Given the description of an element on the screen output the (x, y) to click on. 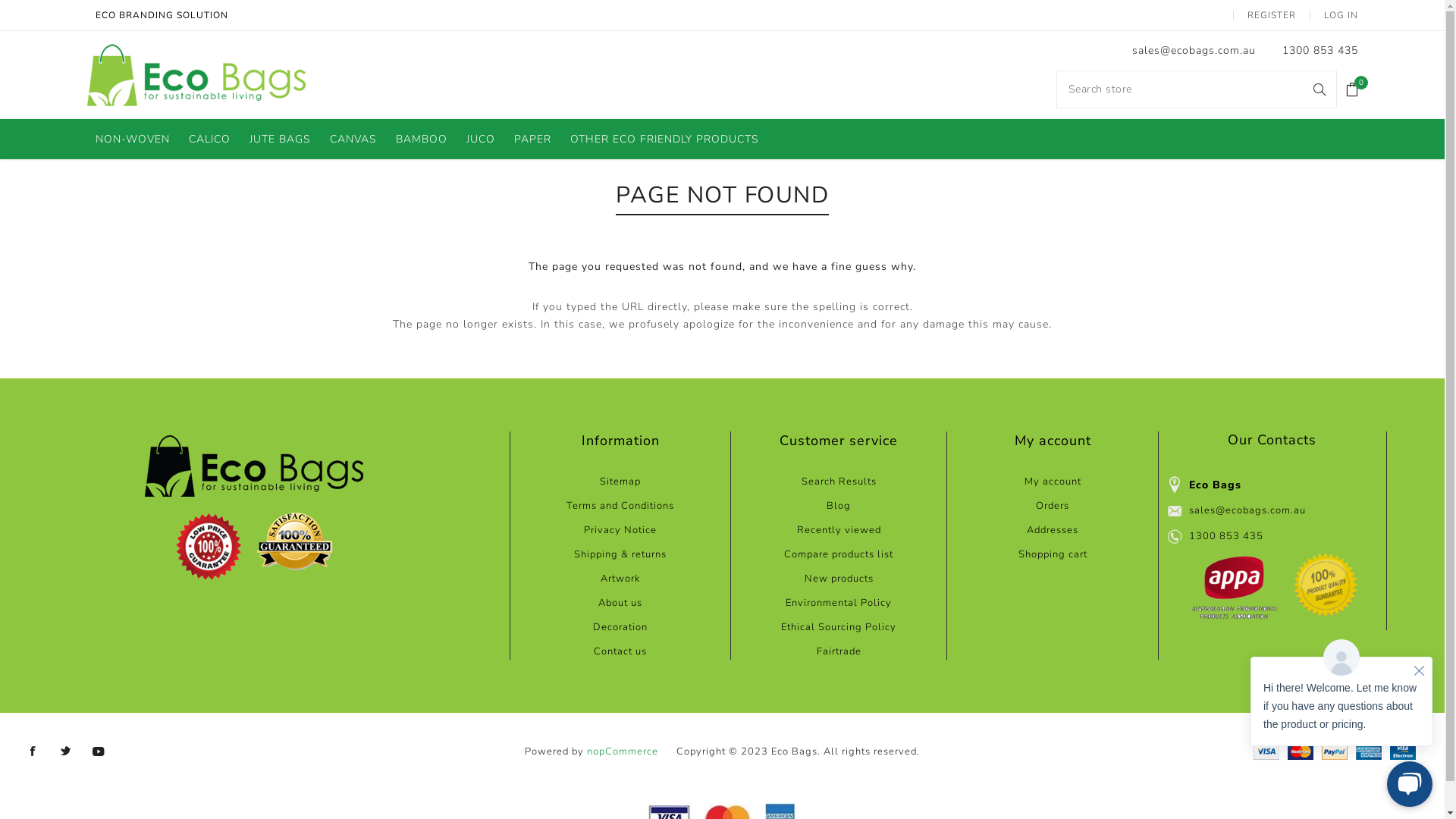
1300 853 435 Element type: text (1226, 536)
sales@ecobags.com.au Element type: text (1247, 510)
Artwork Element type: text (620, 578)
PAPER Element type: text (532, 138)
sales@ecobags.com.au Element type: text (1193, 49)
Terms and Conditions Element type: text (620, 505)
Shopping cart Element type: text (1052, 554)
Addresses Element type: text (1052, 529)
LOG IN Element type: text (1341, 15)
Privacy Notice Element type: text (619, 529)
CALICO Element type: text (209, 138)
Shipping & returns Element type: text (620, 554)
NON-WOVEN Element type: text (132, 138)
Fairtrade Element type: text (838, 651)
CANVAS Element type: text (352, 138)
Decoration Element type: text (620, 627)
Sitemap Element type: text (619, 481)
Contact us Element type: text (619, 651)
REGISTER Element type: text (1271, 15)
ECO BRANDING SOLUTION Element type: text (161, 15)
JUCO Element type: text (480, 138)
Recently viewed Element type: text (839, 529)
Orders Element type: text (1052, 505)
Ethical Sourcing Policy Element type: text (838, 627)
My account Element type: text (1052, 481)
Search Element type: text (1318, 88)
OTHER ECO FRIENDLY PRODUCTS Element type: text (664, 138)
0 Element type: text (1352, 88)
JUTE BAGS Element type: text (279, 138)
Compare products list Element type: text (838, 554)
Search Results Element type: text (838, 481)
About us Element type: text (620, 602)
BAMBOO Element type: text (421, 138)
nopCommerce Element type: text (622, 751)
New products Element type: text (838, 578)
Environmental Policy Element type: text (838, 602)
1300 853 435 Element type: text (1320, 49)
Blog Element type: text (838, 505)
